Given the description of an element on the screen output the (x, y) to click on. 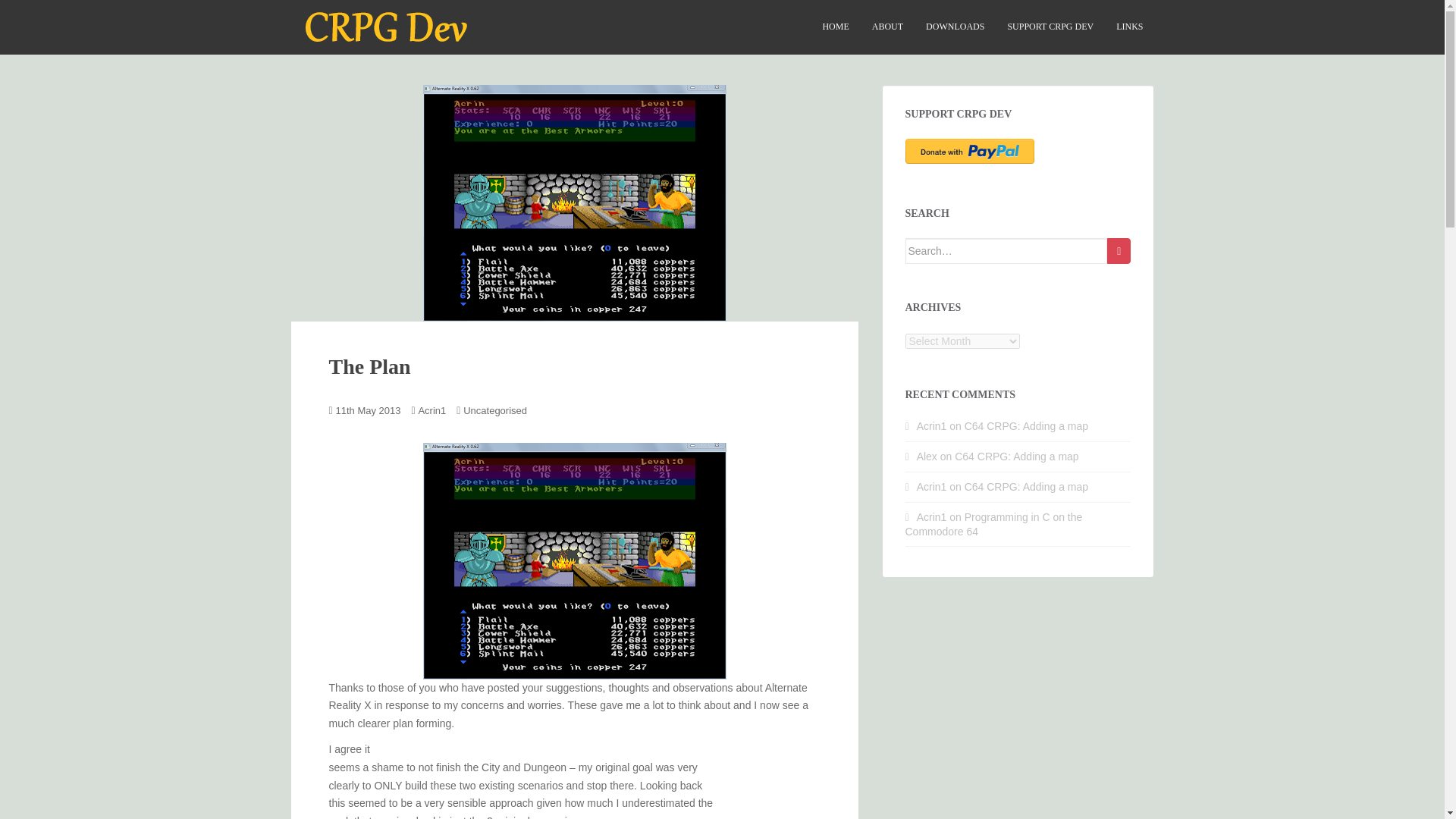
SUPPORT CRPG DEV (1050, 26)
LINKS (1129, 26)
Search for: (1006, 250)
C64 CRPG: Adding a map (1016, 456)
C64 CRPG: Adding a map (1025, 486)
C64 CRPG: Adding a map (1025, 426)
Acrin1 (431, 410)
Programming in C on the Commodore 64 (994, 524)
DOWNLOADS (955, 26)
Search (1118, 250)
Uncategorised (495, 410)
HOME (835, 26)
ABOUT (887, 26)
11th May 2013 (368, 410)
